Given the description of an element on the screen output the (x, y) to click on. 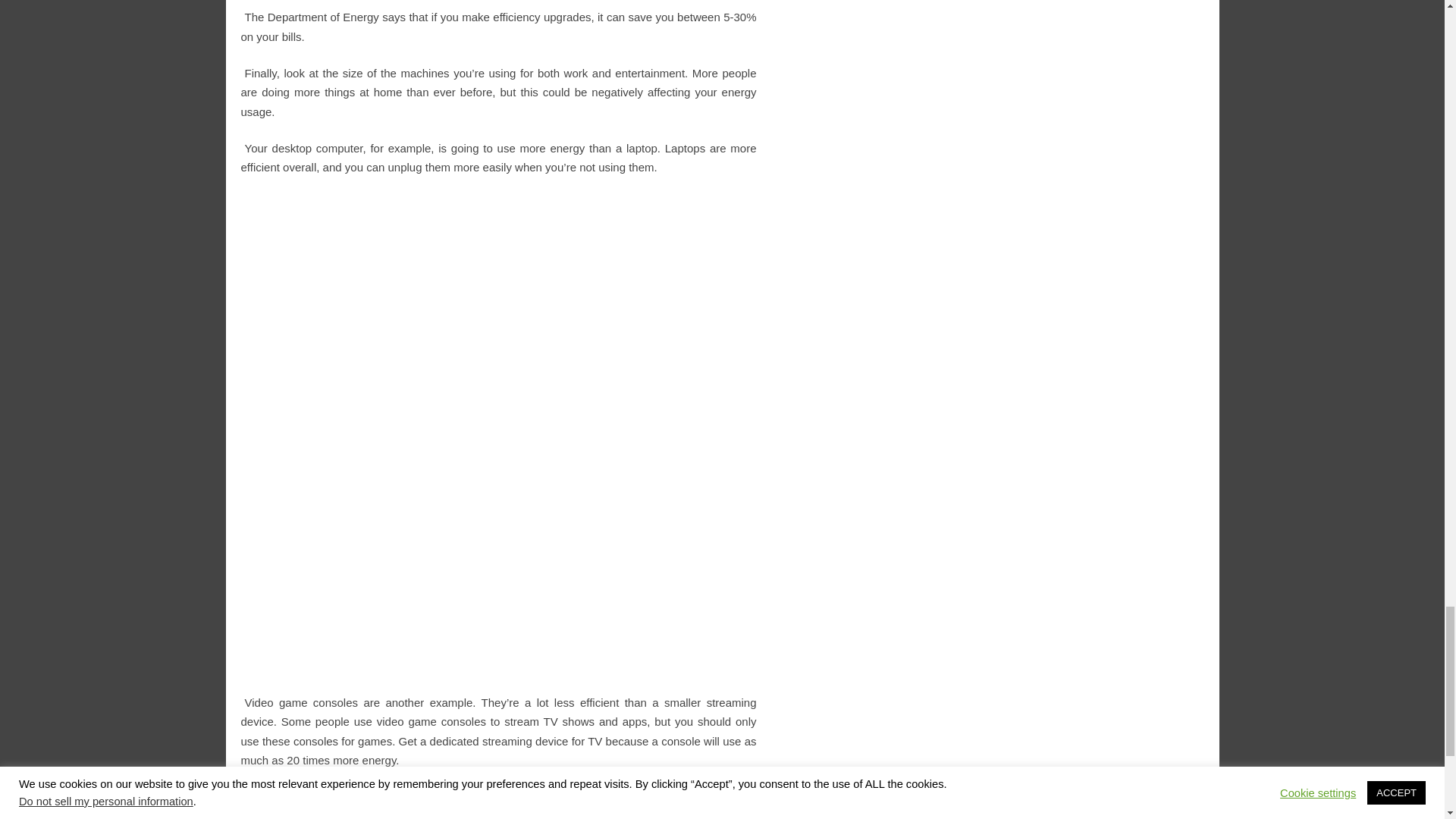
Energy Usage (360, 803)
dimmer switch (604, 803)
chimney (552, 803)
lower your utility bills (682, 803)
Energy Audit (299, 803)
Utility Bills (508, 803)
Insulation (461, 803)
Hot Water (417, 803)
